Given the description of an element on the screen output the (x, y) to click on. 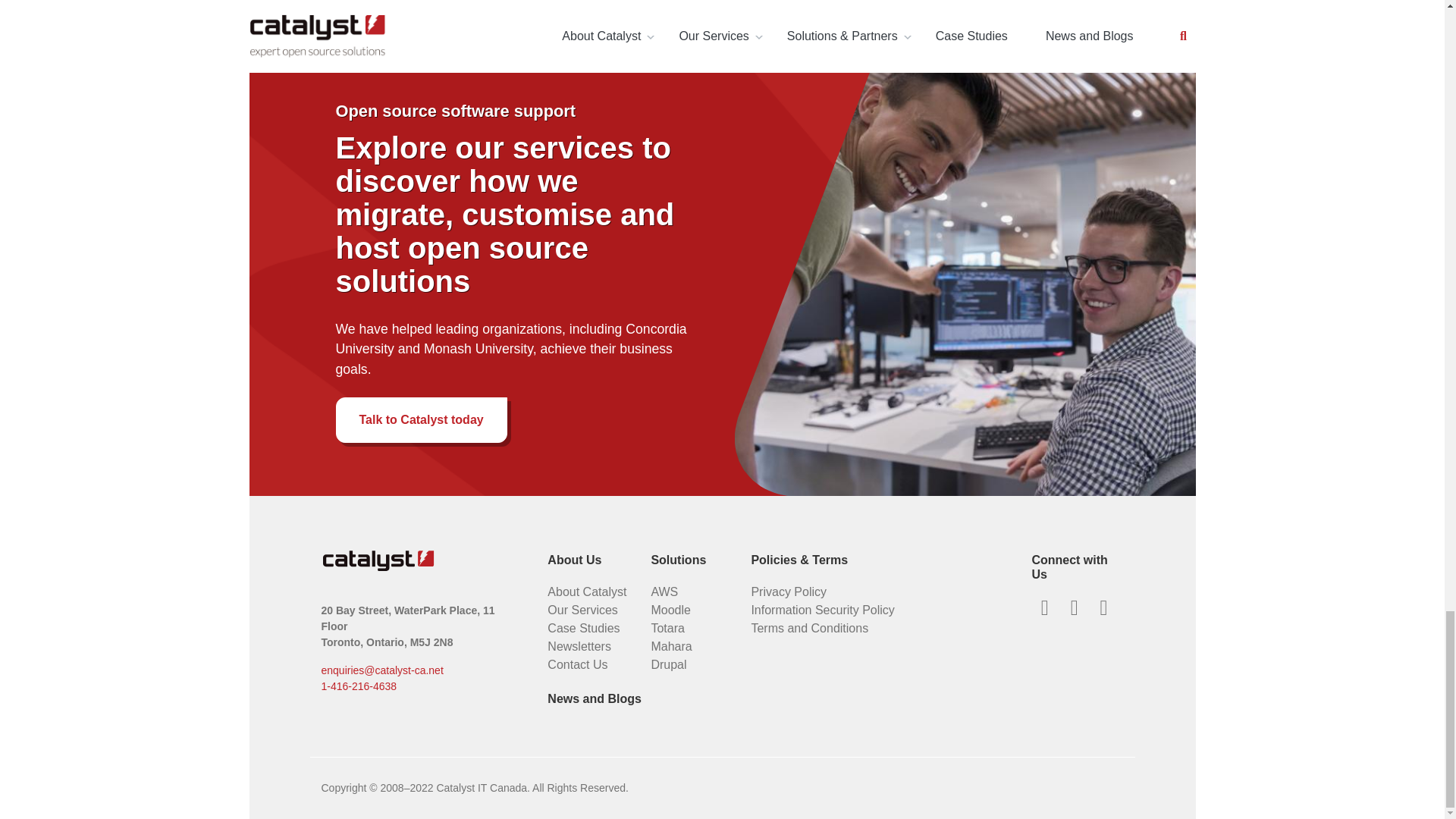
LinkedIn (1074, 608)
Youtube (1103, 608)
Twitter (1044, 608)
